Given the description of an element on the screen output the (x, y) to click on. 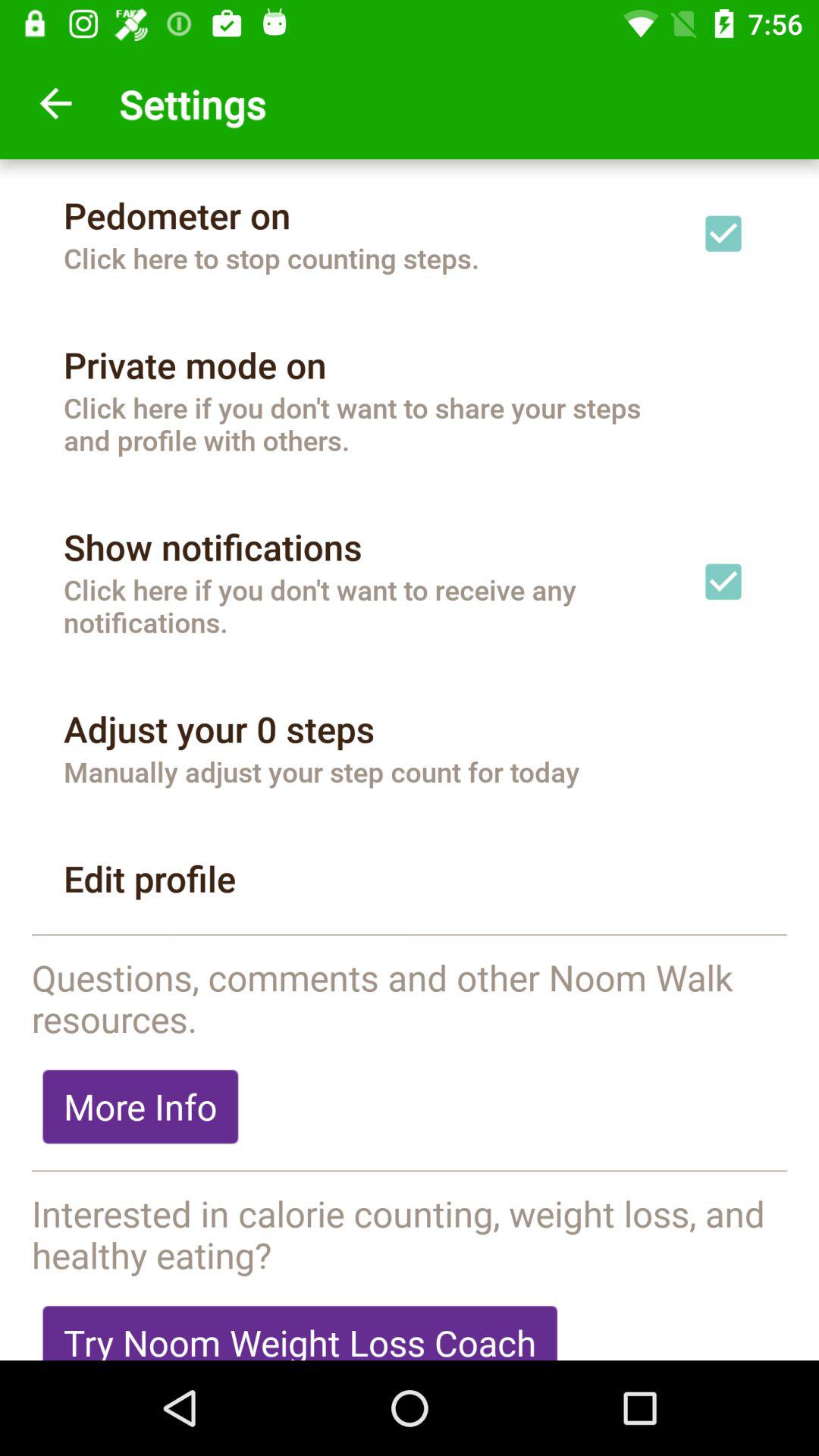
click icon next to settings icon (55, 103)
